Given the description of an element on the screen output the (x, y) to click on. 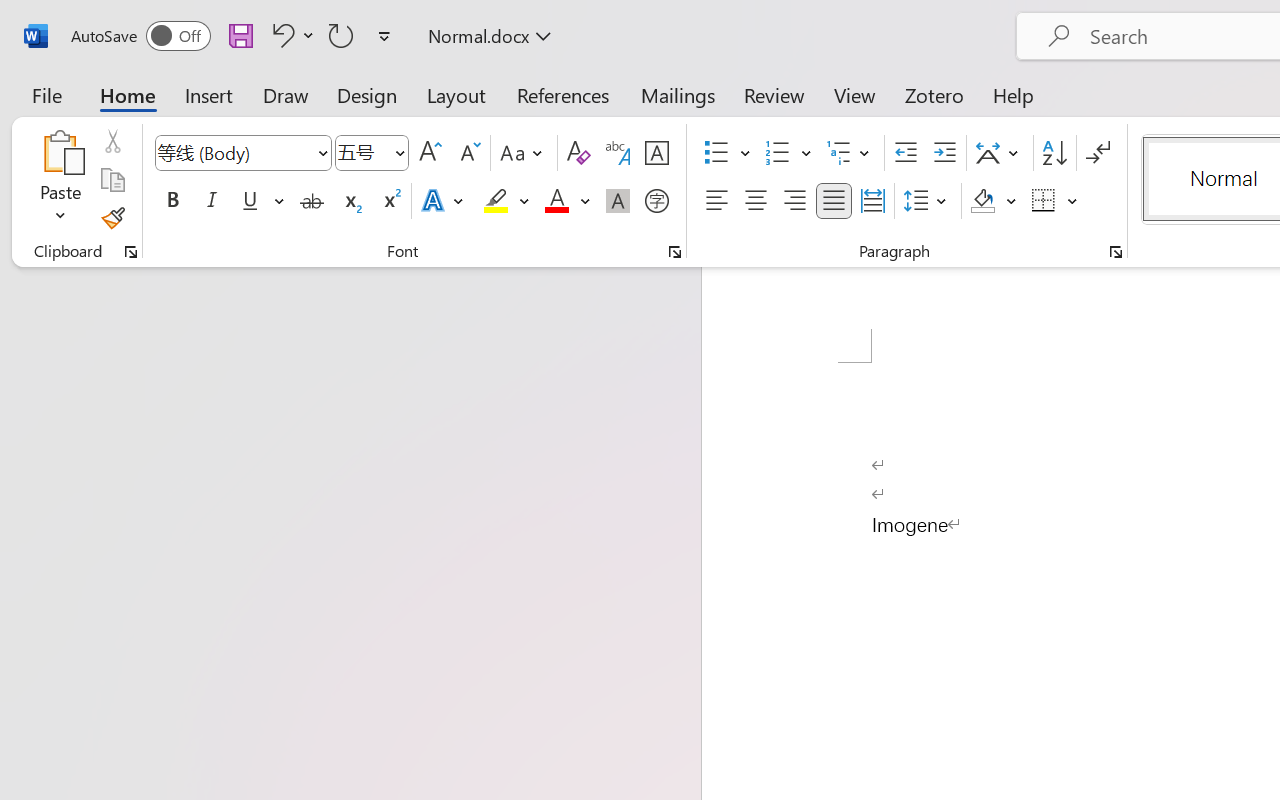
Shading (993, 201)
Undo Style (280, 35)
Text Highlight Color Yellow (495, 201)
Align Right (794, 201)
Help (1013, 94)
Repeat Style (341, 35)
Change Case (524, 153)
Paragraph... (1115, 252)
Sort... (1054, 153)
Font... (675, 252)
Text Highlight Color (506, 201)
